Given the description of an element on the screen output the (x, y) to click on. 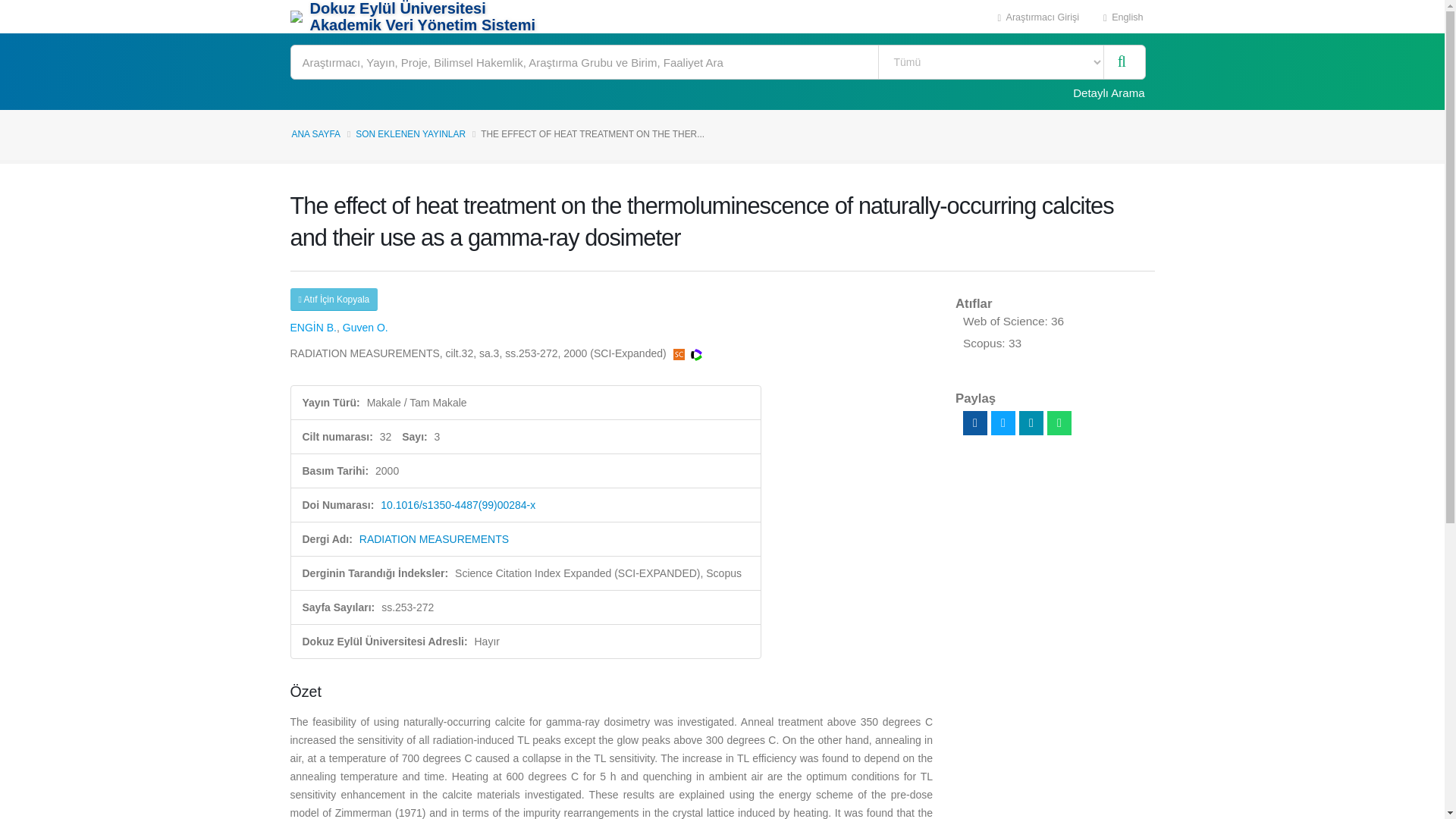
ANA SAYFA (315, 133)
English (1123, 17)
O Guven (365, 327)
SON EKLENEN YAYINLAR (410, 133)
RADIATION MEASUREMENTS (433, 539)
Guven O. (365, 327)
